Given the description of an element on the screen output the (x, y) to click on. 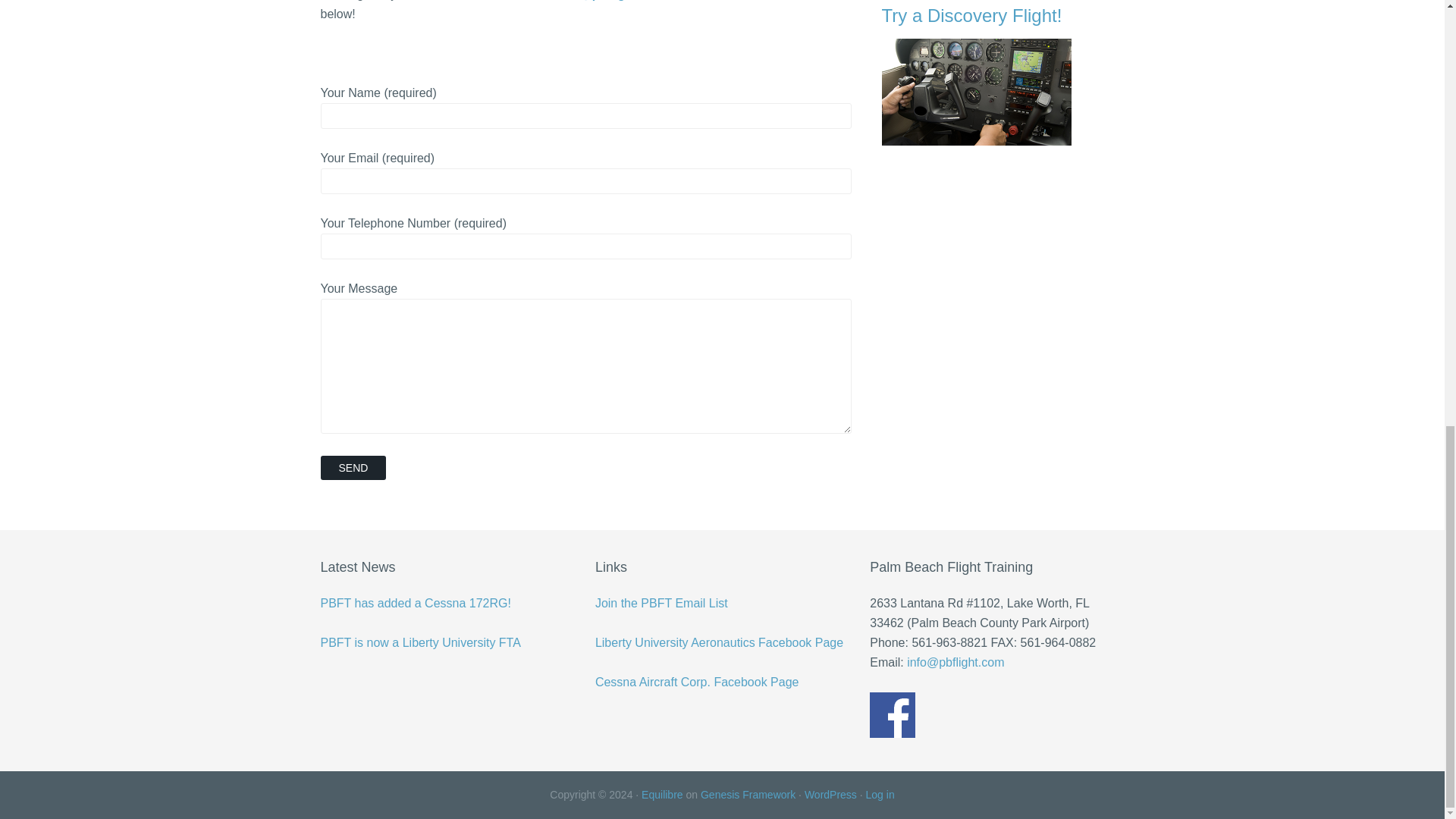
Try a Discovery Flight! (1002, 74)
Equilibre (662, 794)
Send (352, 467)
PBFT is now a Liberty University FTA (419, 642)
WordPress (831, 794)
Genesis Framework (747, 794)
Log in (880, 794)
PBFT has added a Cessna 172RG! (415, 603)
Join the PBFT Email List (661, 603)
Cessna Aircraft Corp. Facebook Page (697, 681)
Liberty University Aeronautics Facebook Page (719, 642)
Send (352, 467)
